Given the description of an element on the screen output the (x, y) to click on. 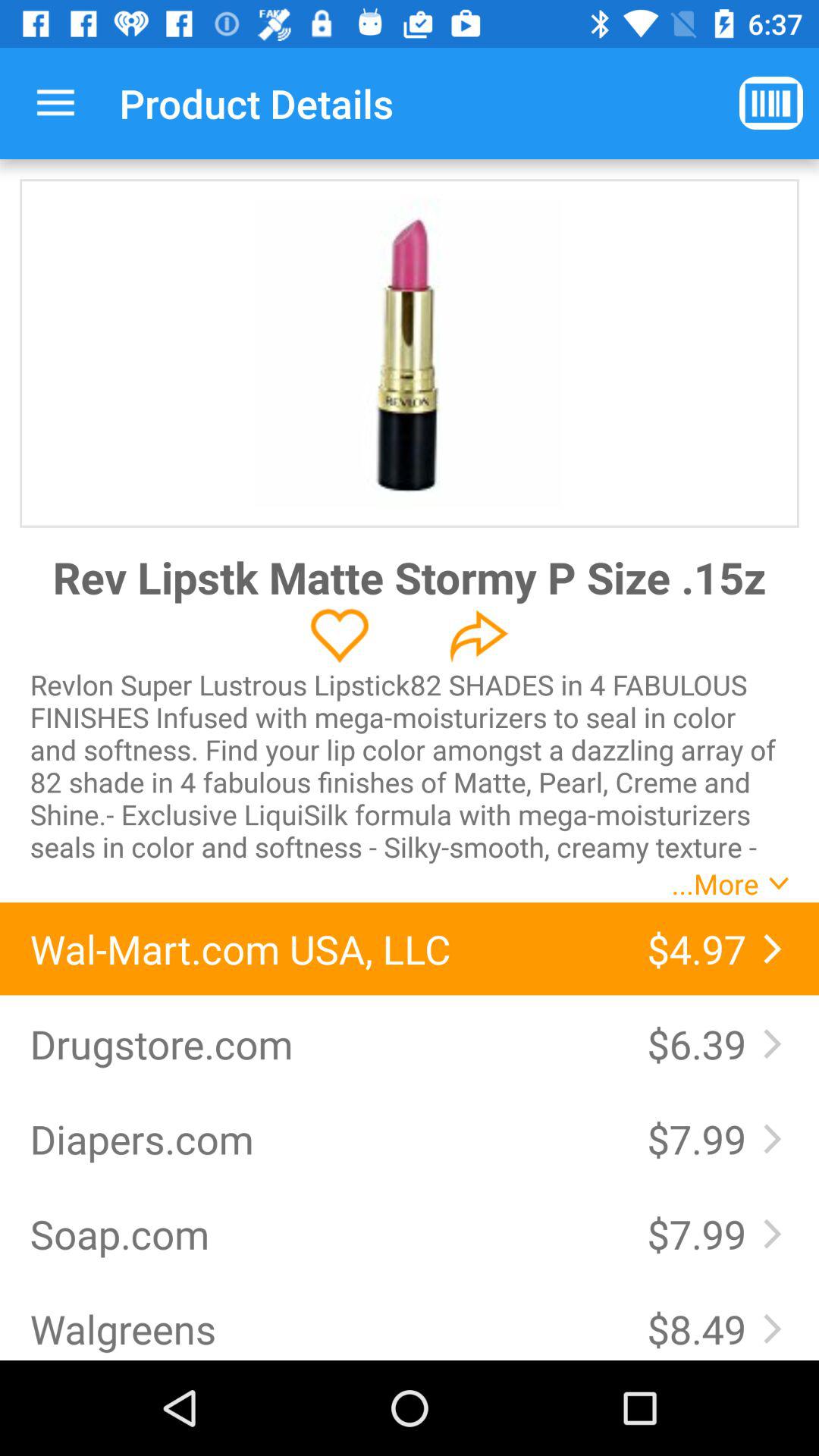
tap wal mart com (323, 948)
